Given the description of an element on the screen output the (x, y) to click on. 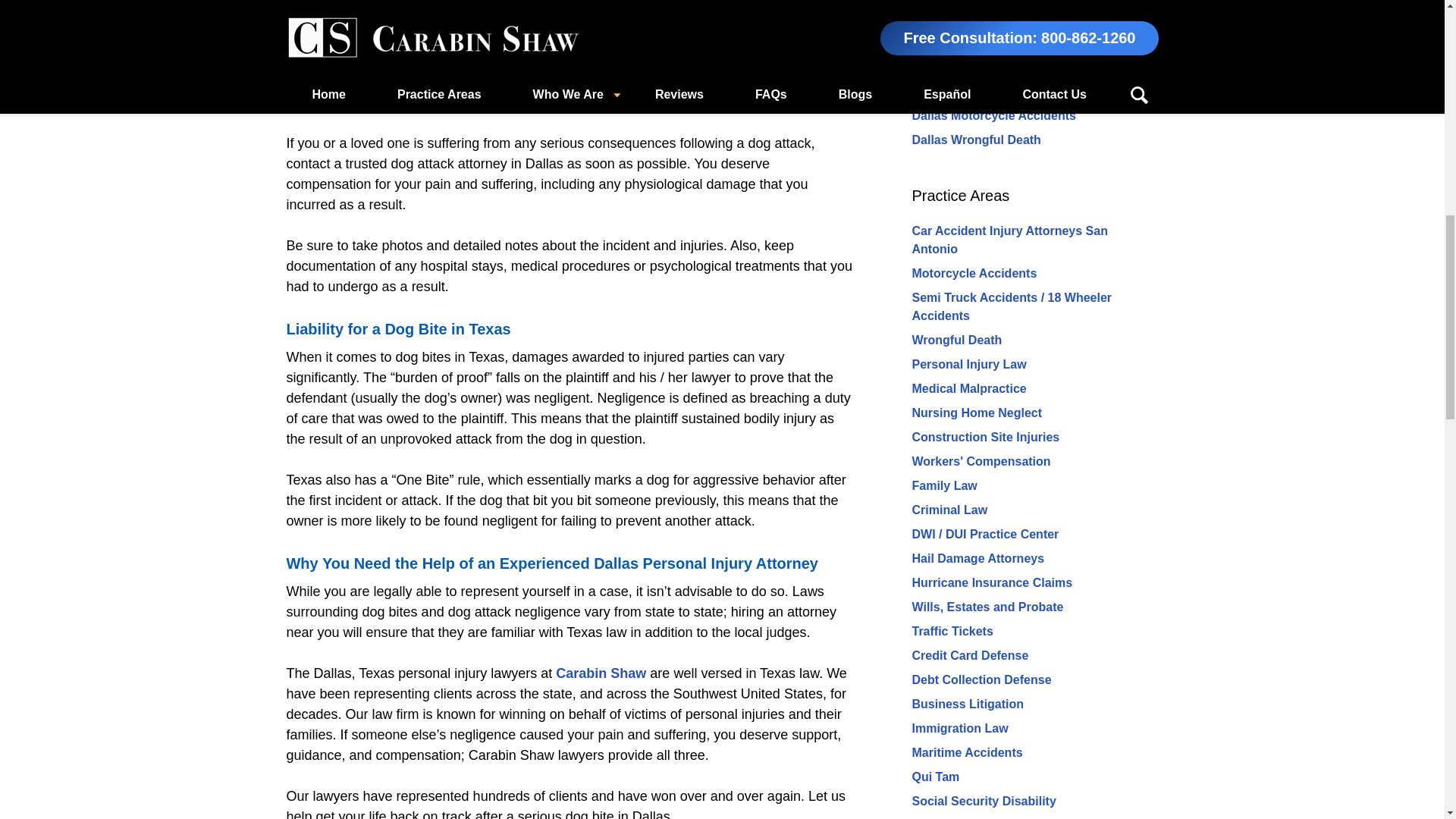
Dallas Practice Areas (983, 31)
Carabin Shaw (601, 672)
Dallas Auto Accidents (975, 91)
Dallas 18 Wheeler Accidents (993, 66)
Dallas Motorcycle Accidents (993, 115)
